Given the description of an element on the screen output the (x, y) to click on. 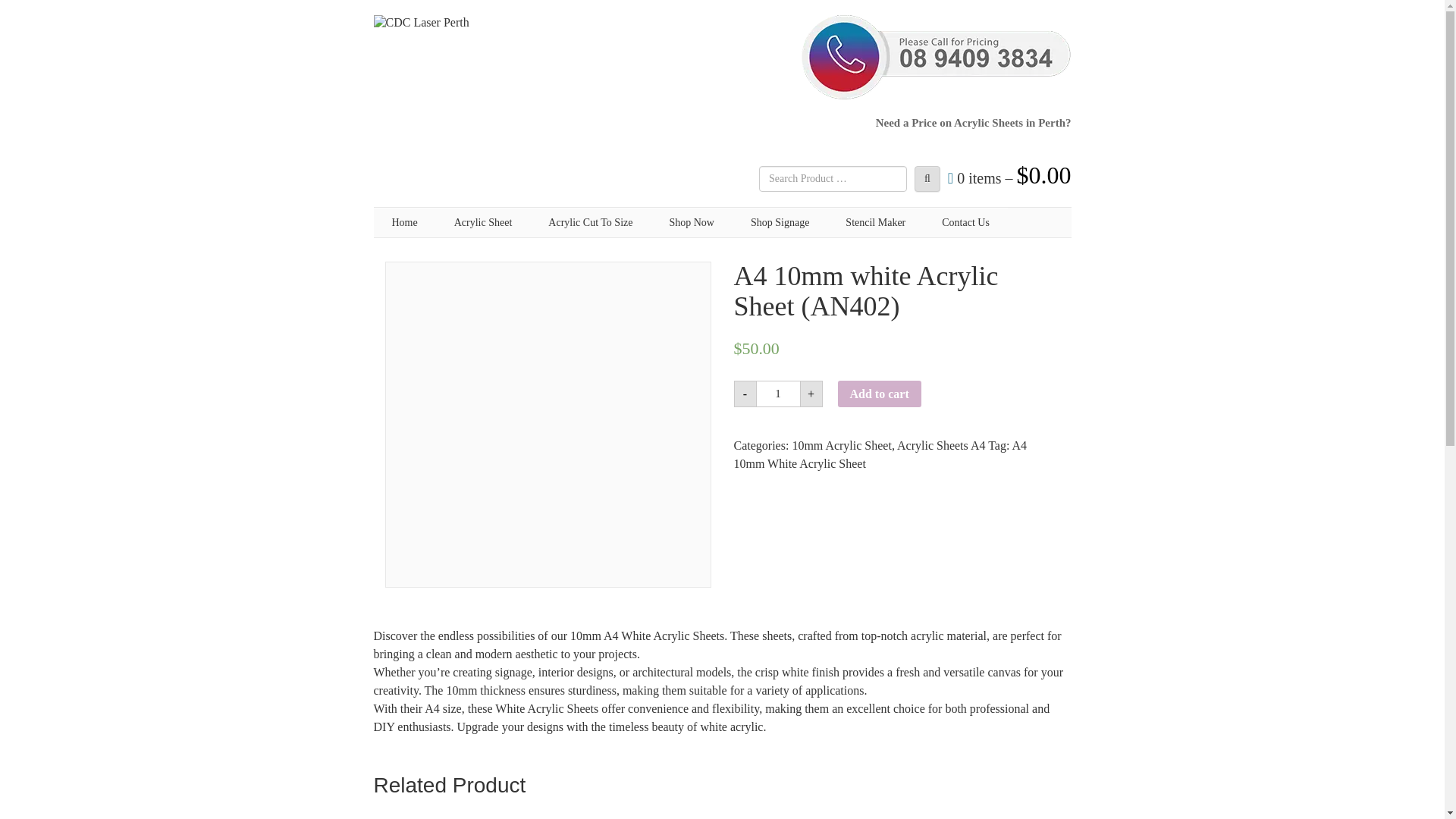
Shop Now (691, 223)
Acrylic Sheet (483, 223)
Home (403, 223)
1 (778, 393)
47-red-code-red136.jpg (812, 812)
10mm Acrylic Sheet (841, 445)
Shop Signage (779, 223)
Add to cart (878, 393)
50-white-code-an402.jpg (451, 812)
Qty (778, 393)
